Given the description of an element on the screen output the (x, y) to click on. 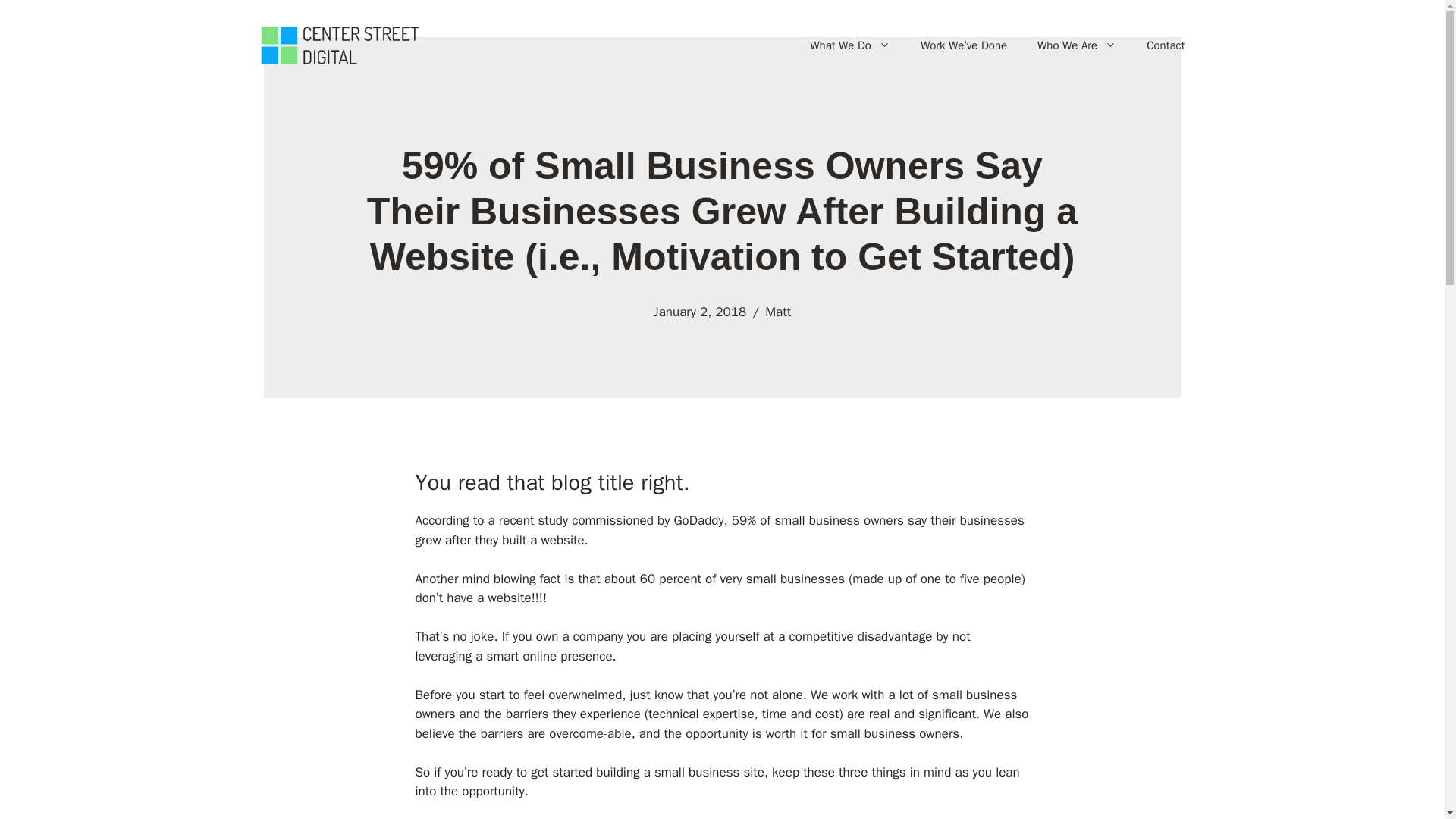
Matt (777, 311)
What We Do (849, 44)
Center Street Digital (339, 44)
Center Street Digital (339, 45)
Who We Are (1076, 44)
Contact (1165, 44)
